Given the description of an element on the screen output the (x, y) to click on. 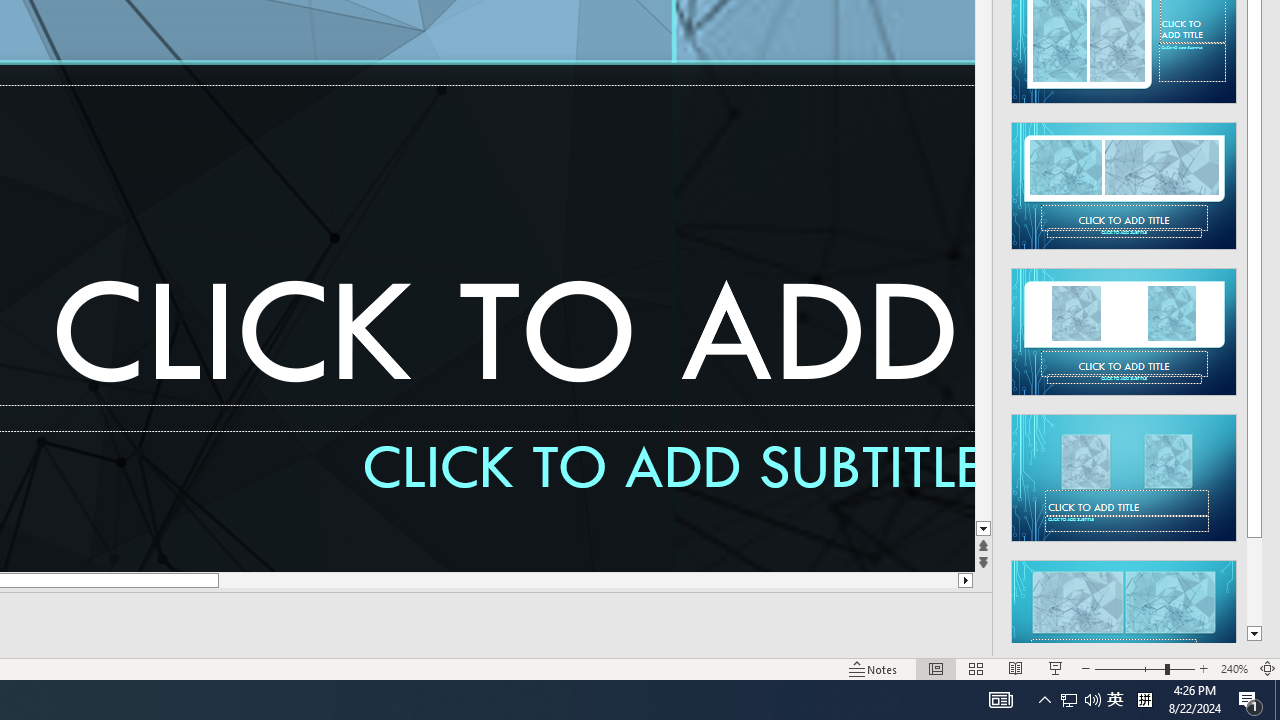
Zoom 240% (1234, 668)
